Given the description of an element on the screen output the (x, y) to click on. 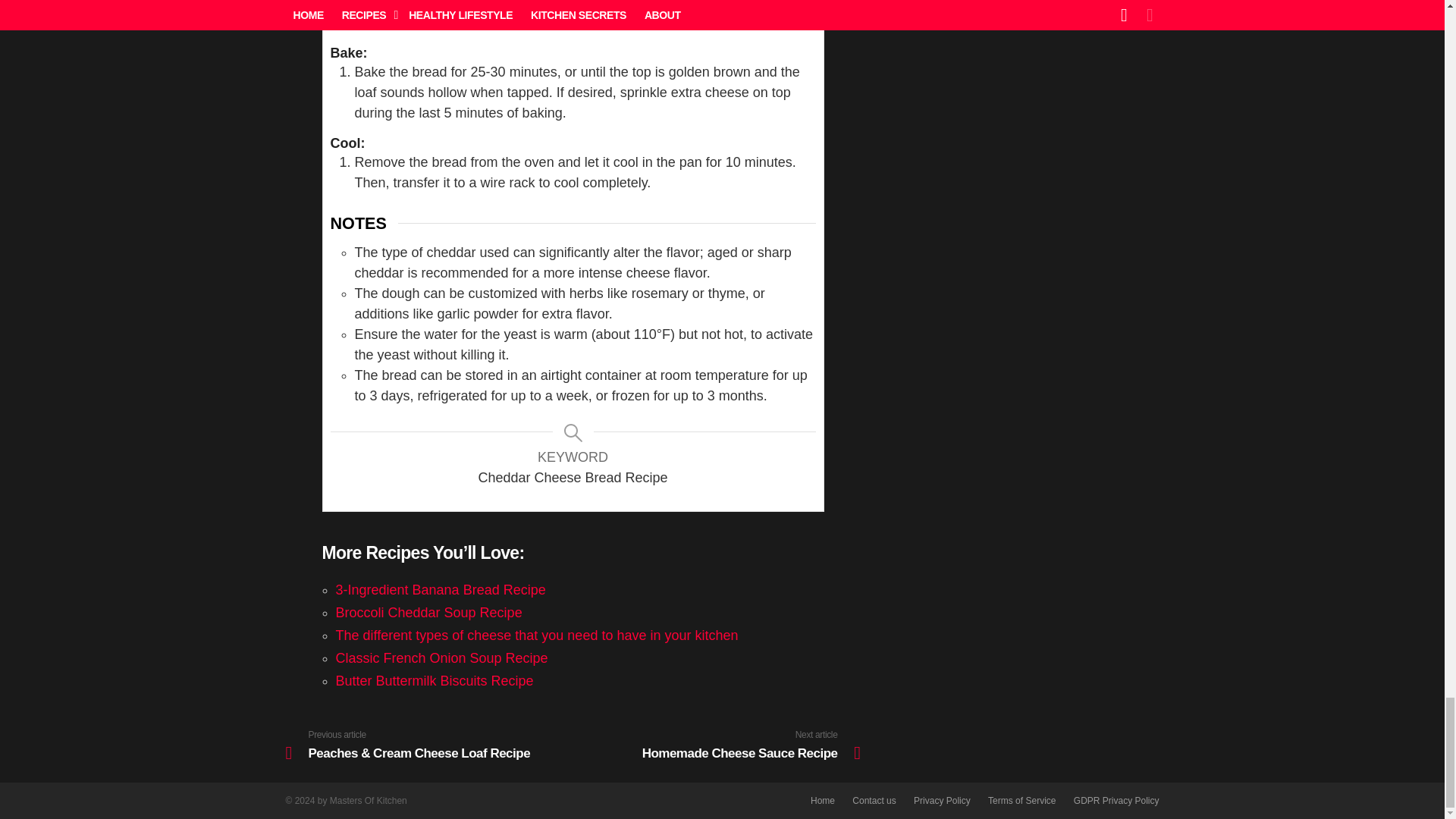
Broccoli Cheddar Soup Recipe (427, 612)
3-Ingredient Banana Bread Recipe (439, 589)
